Given the description of an element on the screen output the (x, y) to click on. 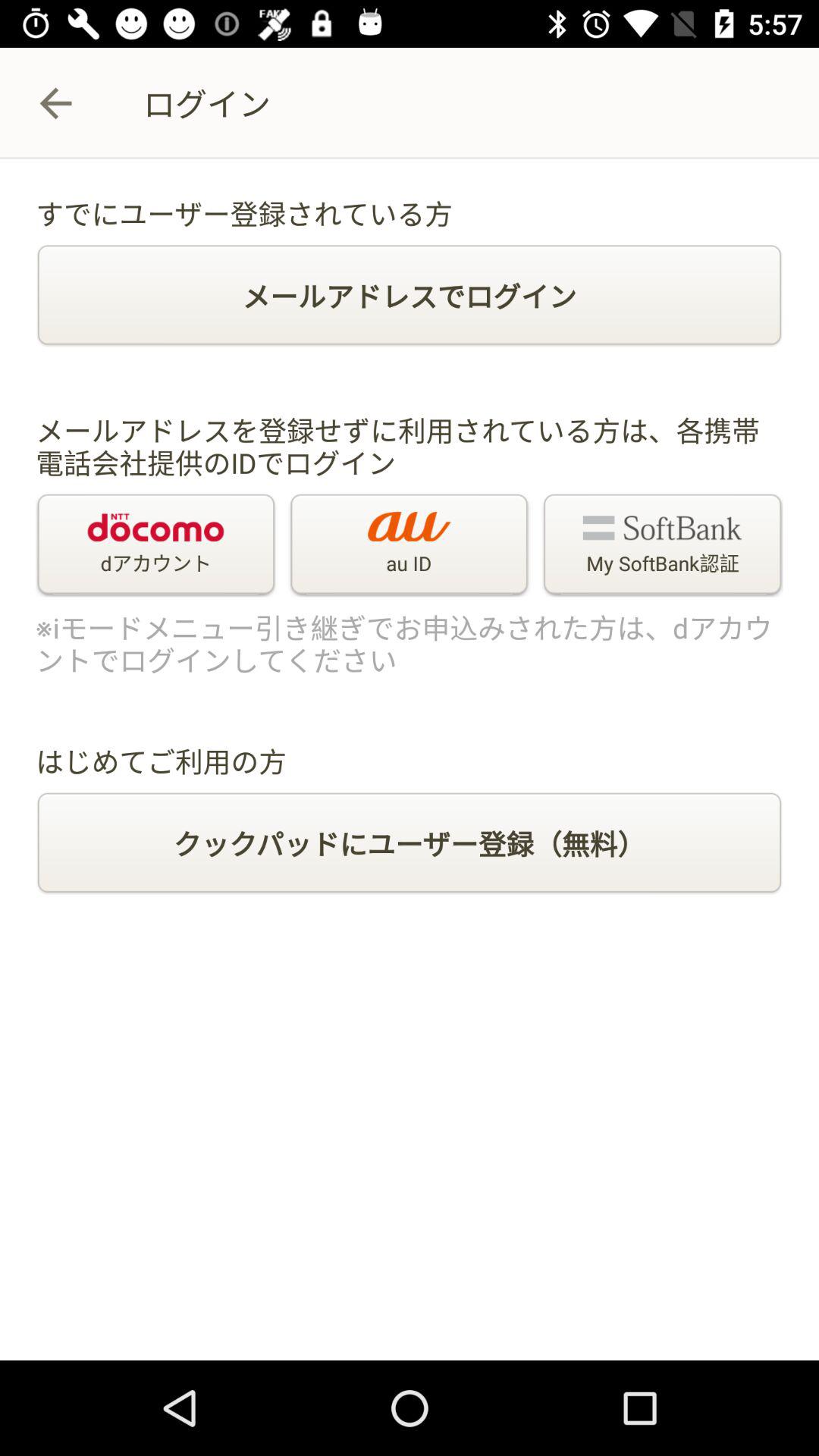
select the au id item (408, 545)
